Given the description of an element on the screen output the (x, y) to click on. 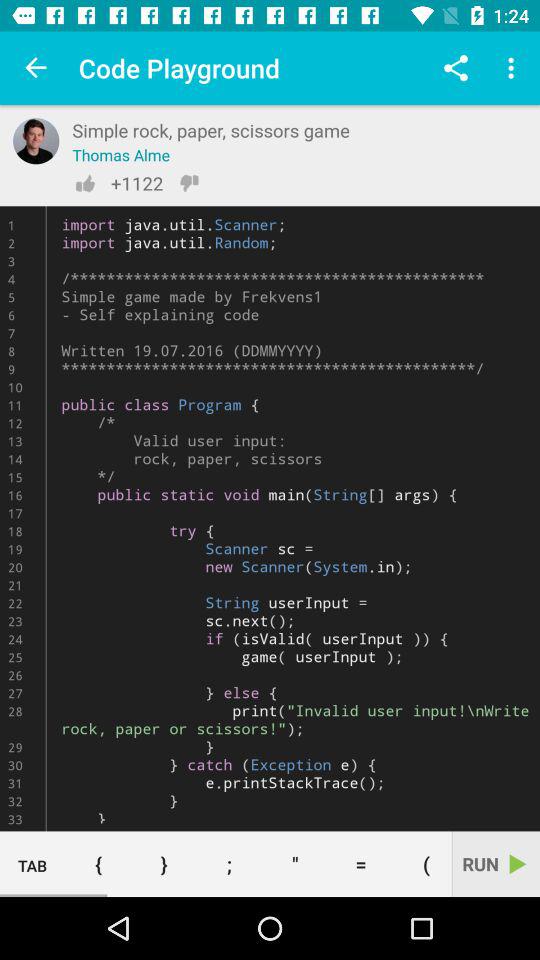
tap the icon next to the } item (229, 863)
